Given the description of an element on the screen output the (x, y) to click on. 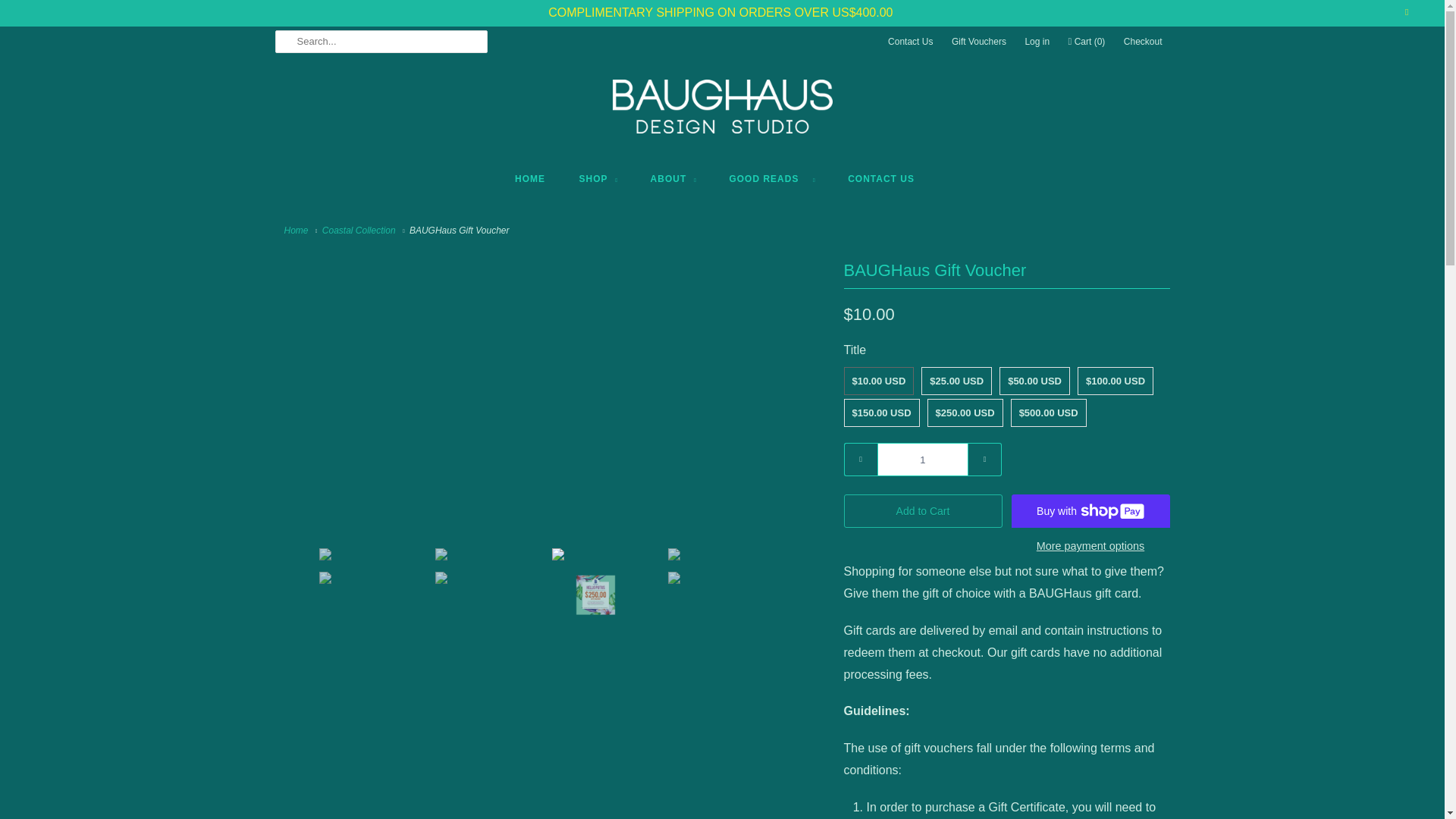
1 (922, 459)
BAUGHaus Gift Voucher (551, 265)
Log in (1037, 41)
BAUGHaus (296, 230)
Contact Us (910, 41)
BAUGHaus (722, 112)
Gift Vouchers (979, 41)
Coastal Collection (359, 230)
Checkout (1142, 41)
